Given the description of an element on the screen output the (x, y) to click on. 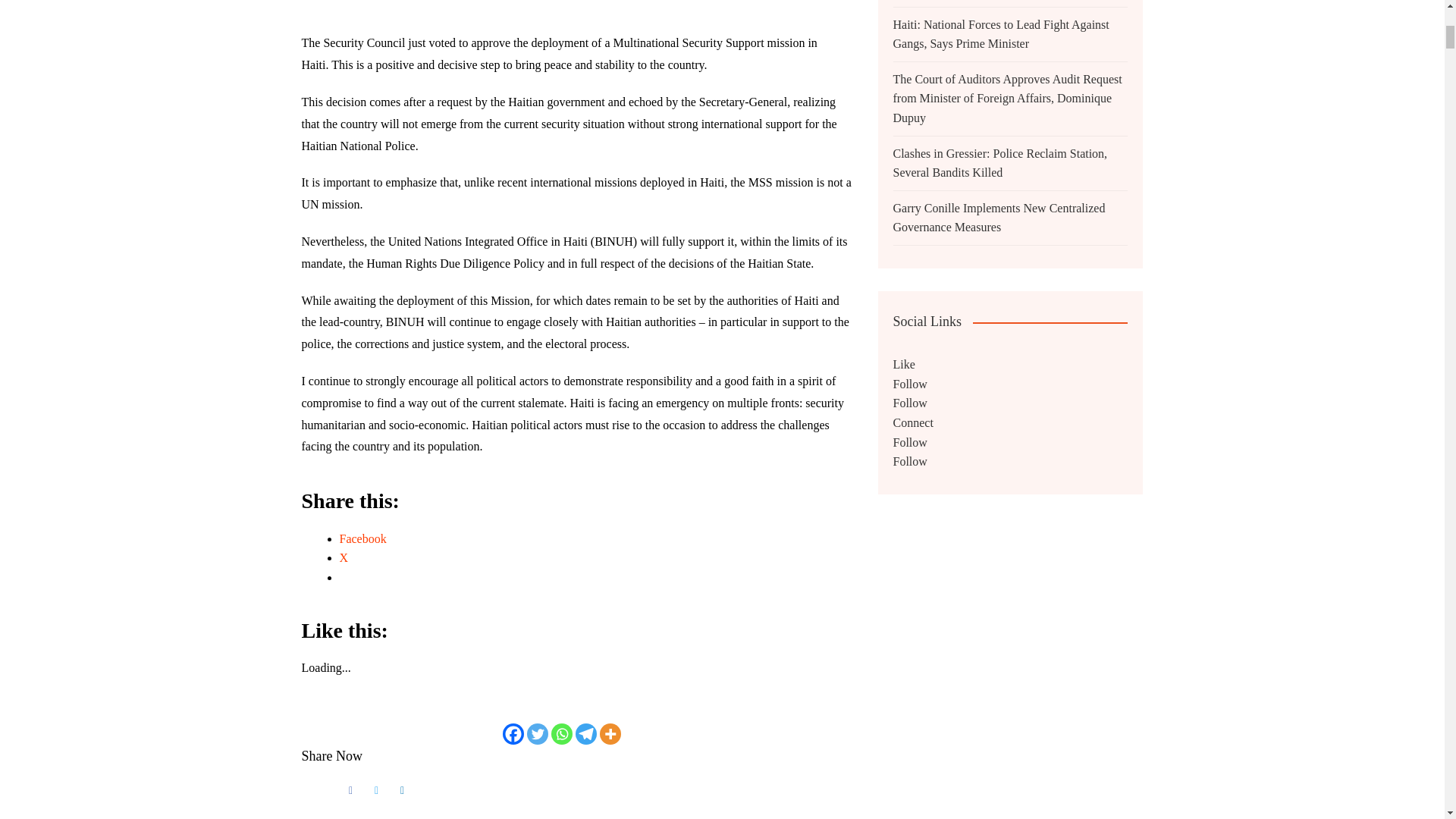
Whatsapp (561, 733)
Facebook (513, 733)
Facebook (363, 538)
Click to share on Facebook (363, 538)
Telegram (585, 733)
More (610, 733)
Twitter (537, 733)
